Given the description of an element on the screen output the (x, y) to click on. 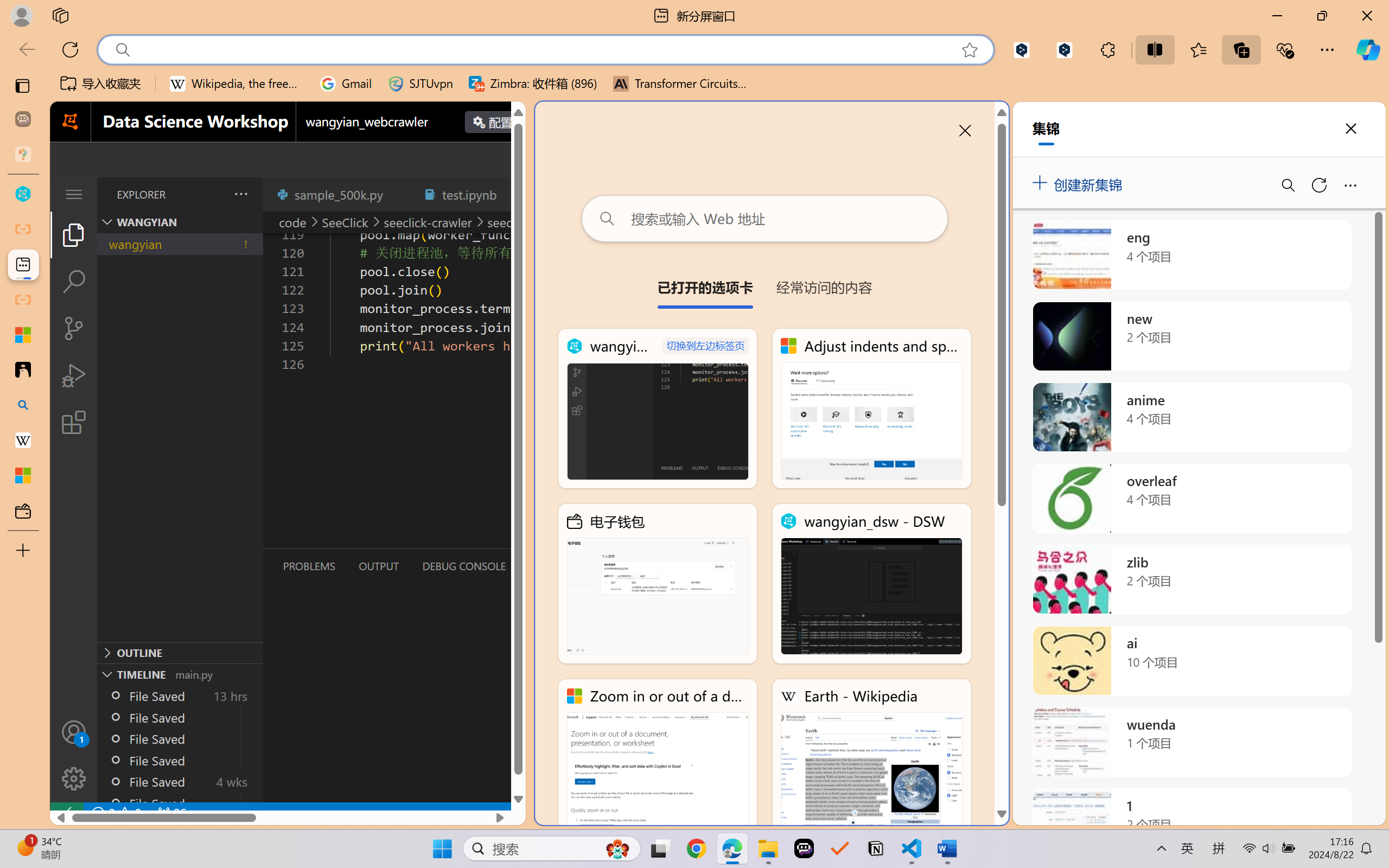
wangyian_dsw - DSW (871, 583)
Adjust indents and spacing - Microsoft Support (871, 408)
Earth - Wikipedia (871, 758)
Accounts - Sign in requested (73, 732)
Extensions (Ctrl+Shift+X) (73, 422)
Source Control (Ctrl+Shift+G) (73, 328)
Application Menu (73, 194)
